Given the description of an element on the screen output the (x, y) to click on. 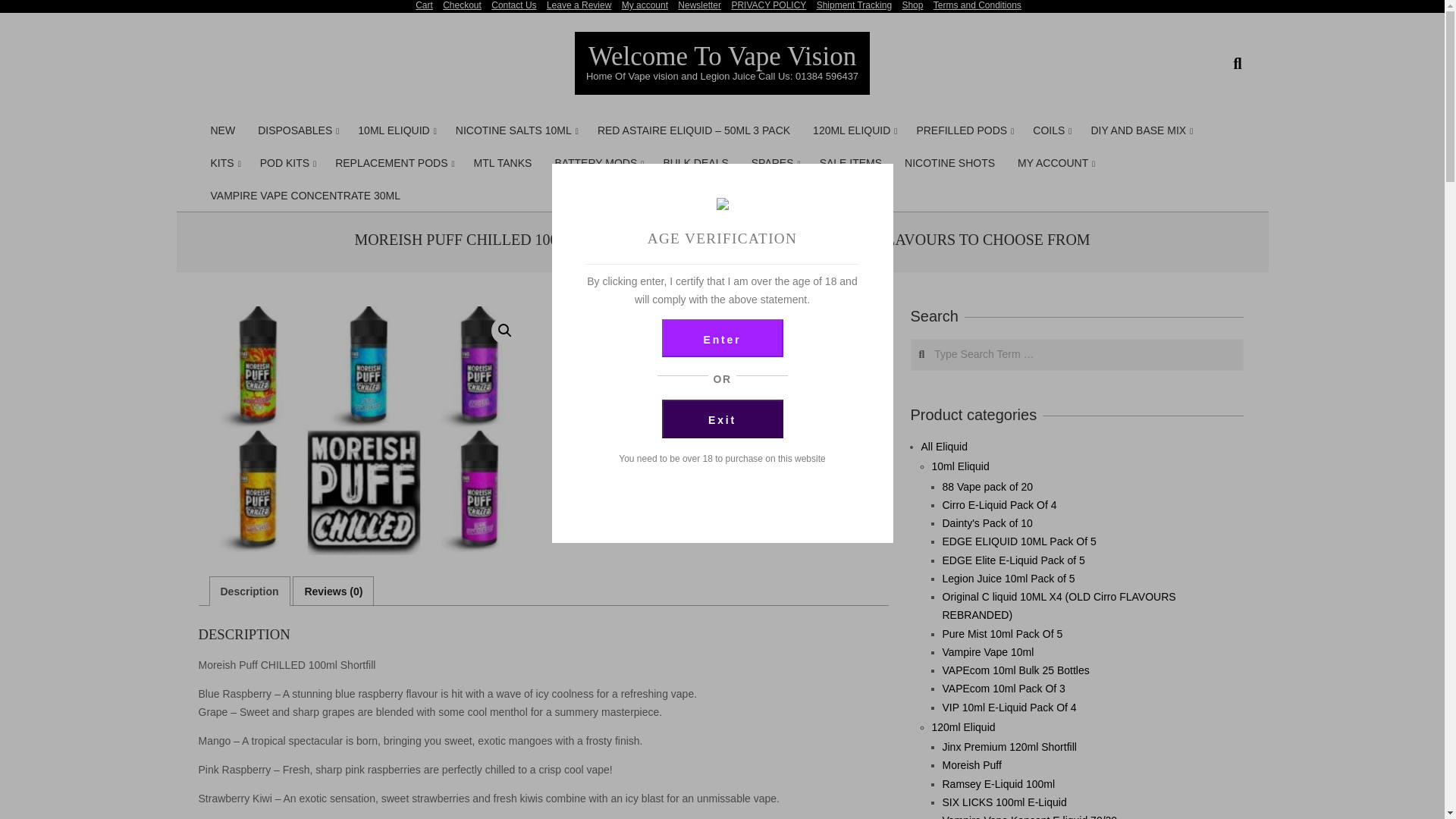
Search (24, 9)
Terms and Conditions (977, 5)
Cart (423, 5)
NEW (222, 130)
DISPOSABLES (296, 130)
10ML ELIQUID (395, 130)
Newsletter (699, 5)
Welcome To Vape Vision (722, 56)
Contact Us (513, 5)
My account (644, 5)
Shipment Tracking (853, 5)
PRIVACY POLICY (768, 5)
1 (576, 415)
Shop (912, 5)
120ML ELIQUID (853, 130)
